Given the description of an element on the screen output the (x, y) to click on. 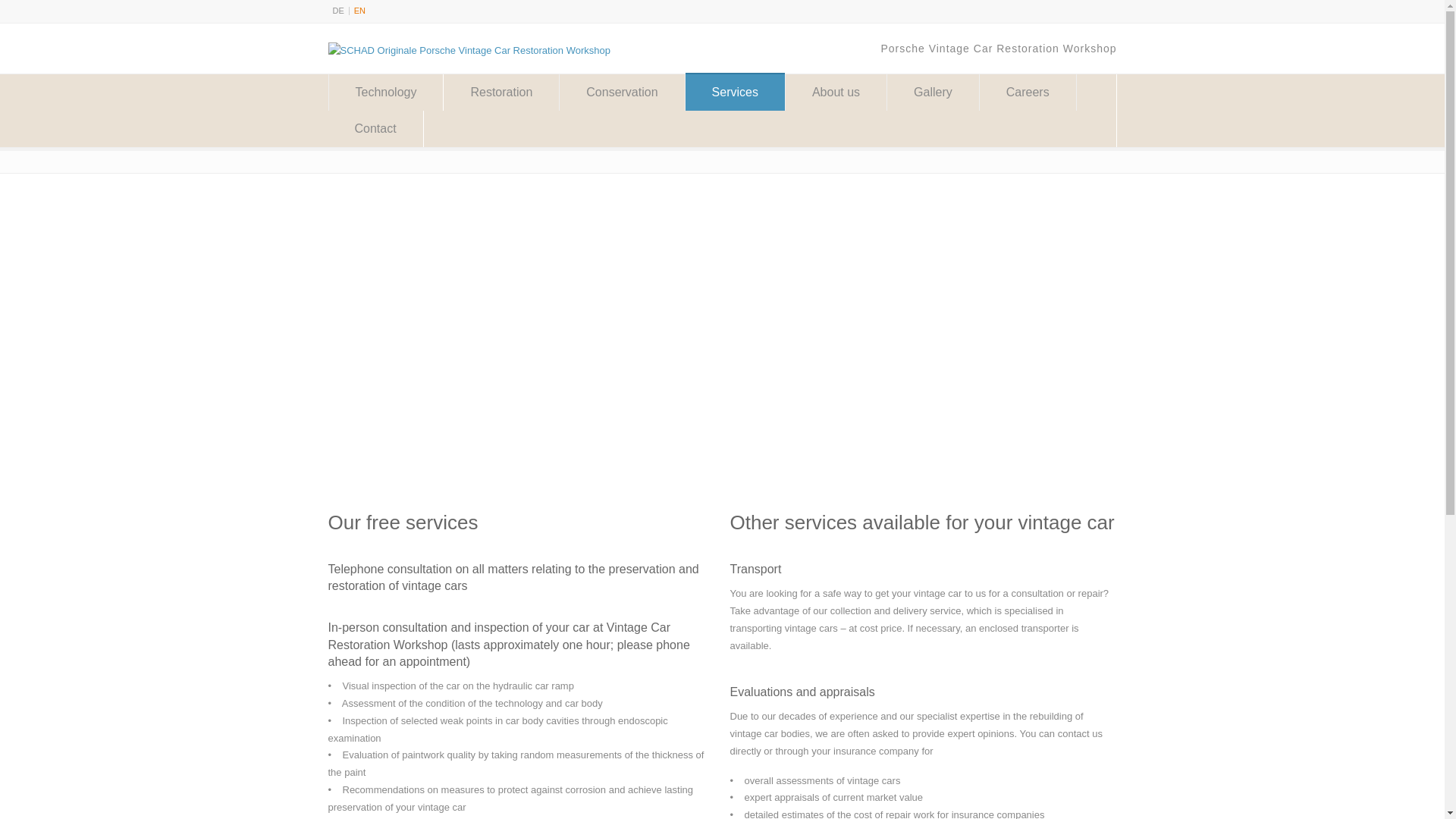
Conservation (621, 92)
Contact (374, 128)
About us (836, 92)
EN (359, 10)
Open Cookie Preferences (32, 799)
Careers (1027, 92)
Gallery (932, 92)
DE (337, 10)
Restoration (501, 92)
Services (734, 92)
DE (337, 10)
Technology (386, 92)
SCHAD Originale Porsche Vintage Car Restoration Workshop  (468, 50)
EN (359, 10)
